Given the description of an element on the screen output the (x, y) to click on. 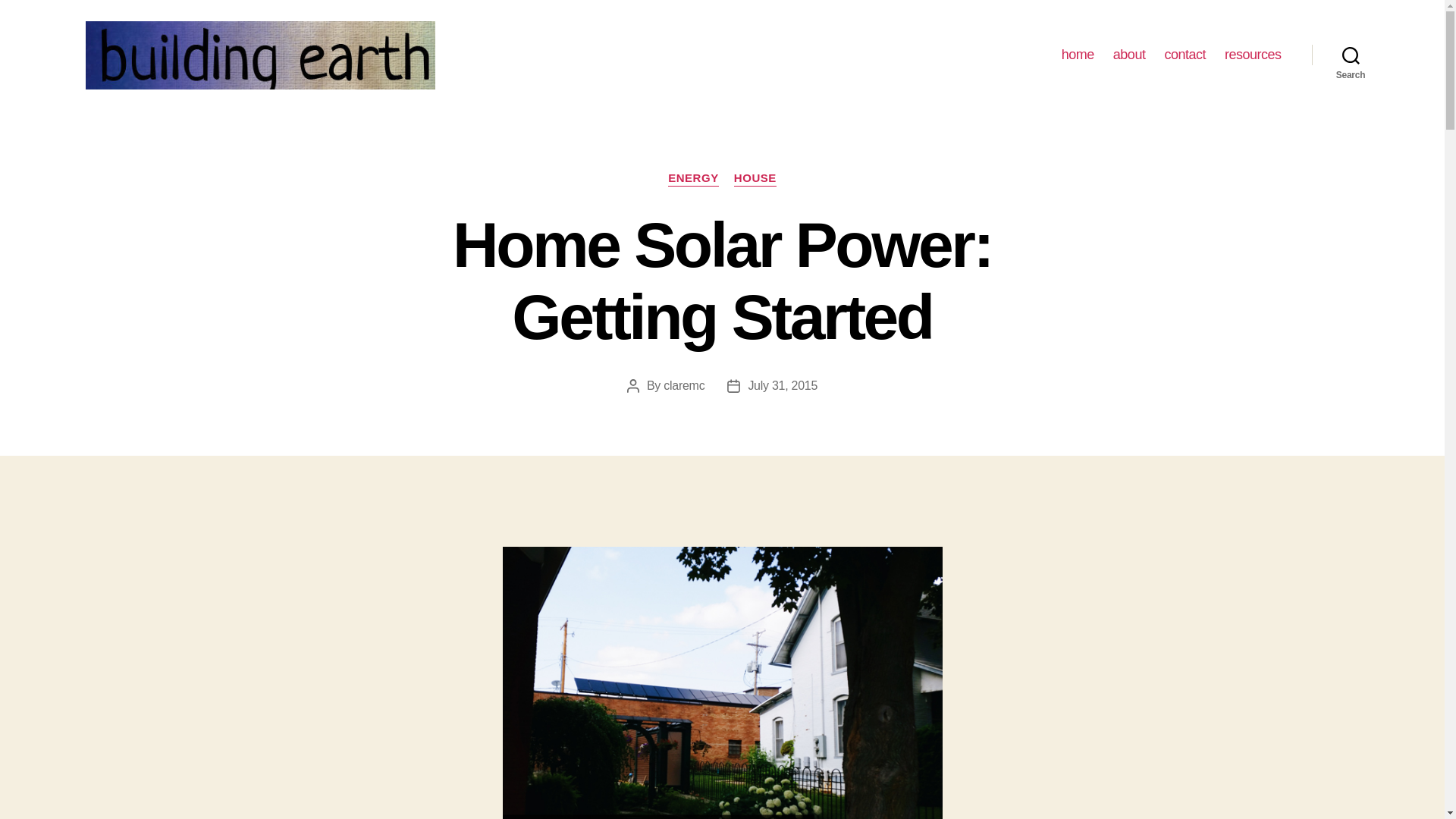
ENERGY (693, 178)
home (1077, 54)
July 31, 2015 (782, 385)
resources (1252, 54)
claremc (683, 385)
contact (1184, 54)
Search (1350, 55)
HOUSE (754, 178)
about (1129, 54)
